Given the description of an element on the screen output the (x, y) to click on. 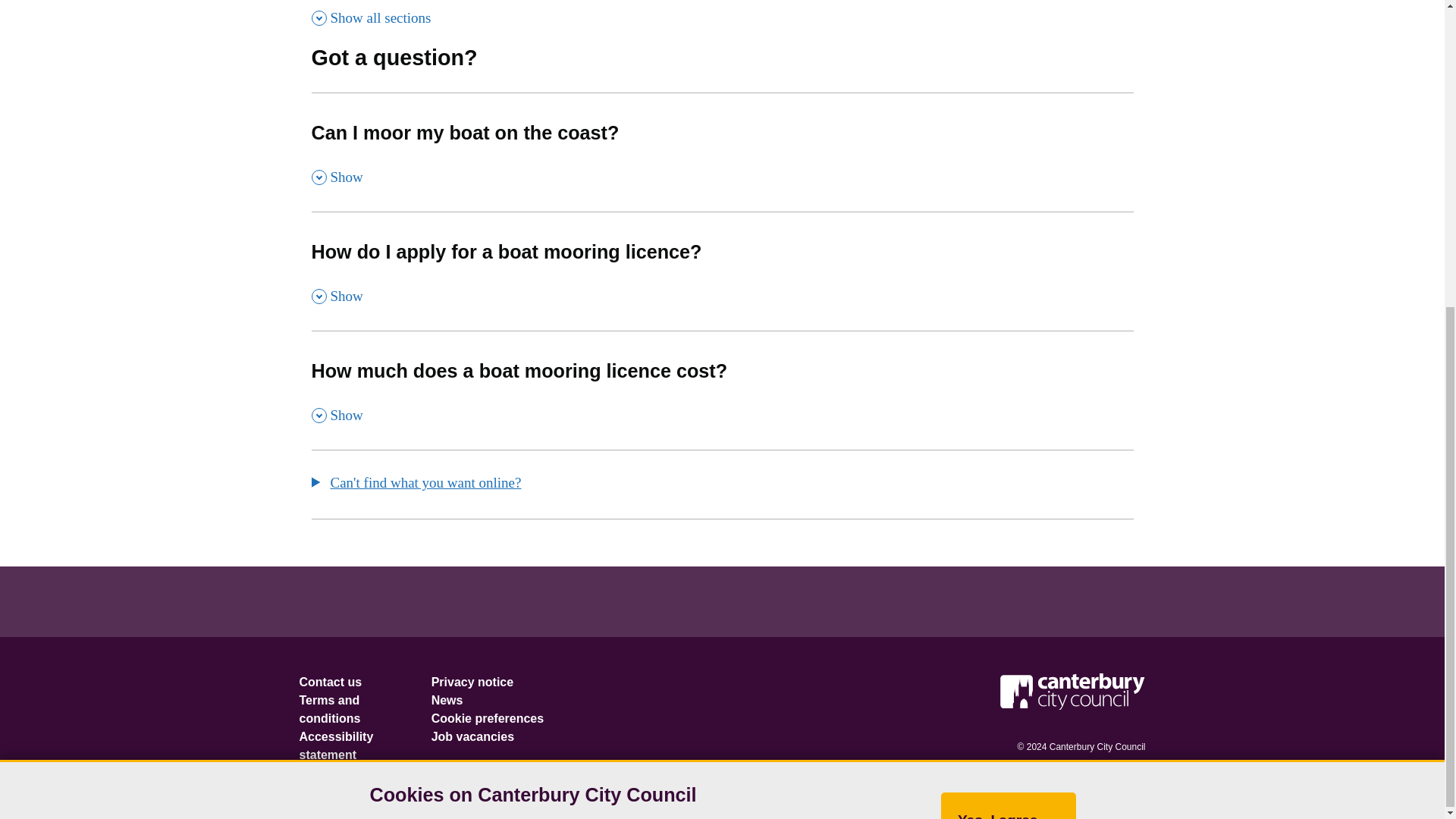
Show all sections (721, 151)
Yes, I agree (721, 389)
No, review settings (371, 17)
